Given the description of an element on the screen output the (x, y) to click on. 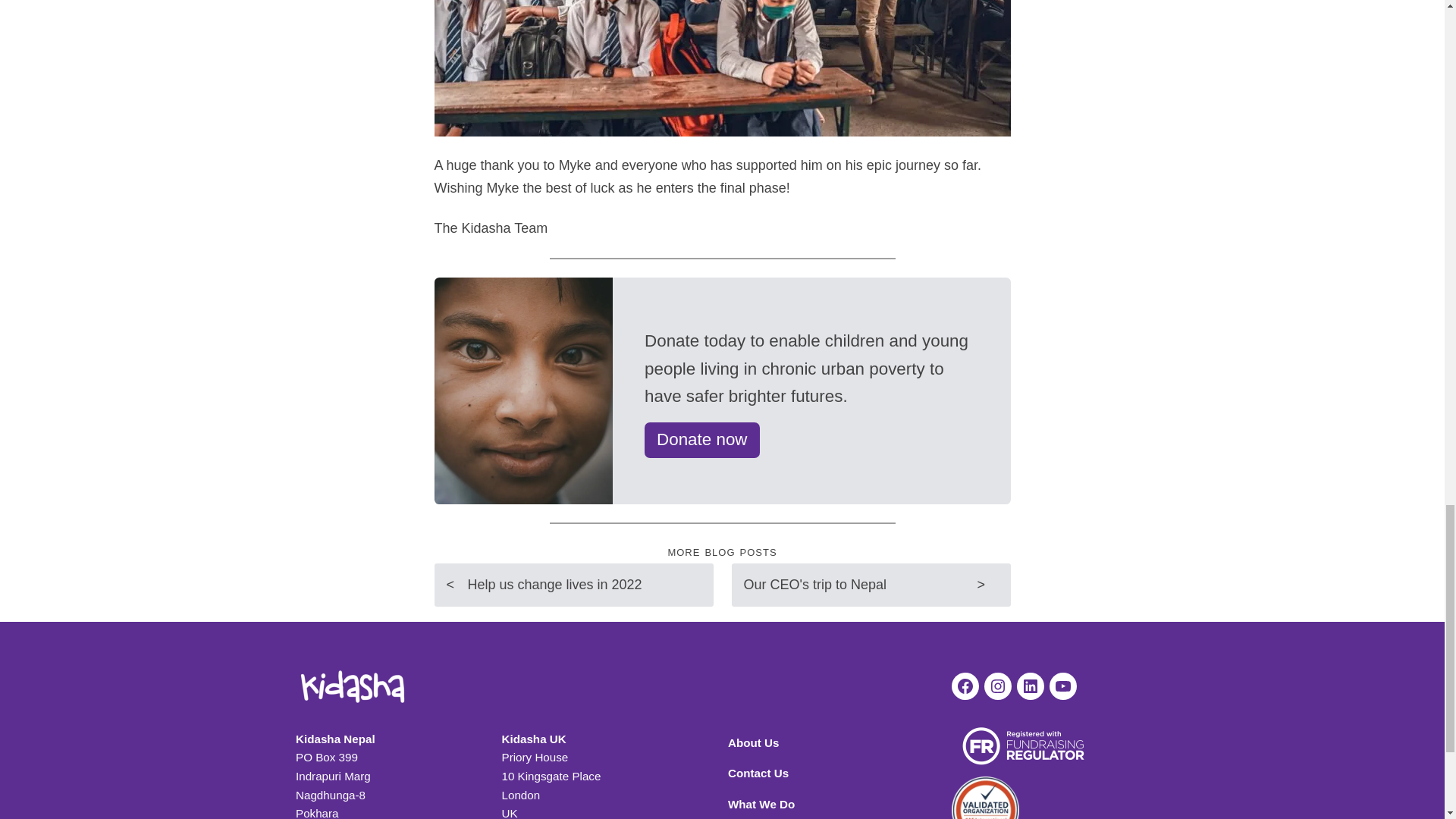
What We Do (761, 803)
Instagram (997, 686)
Facebook (965, 686)
Donate now (702, 439)
Contact Us (758, 772)
YouTube (1063, 686)
About Us (753, 742)
LinkedIn (1029, 686)
